Given the description of an element on the screen output the (x, y) to click on. 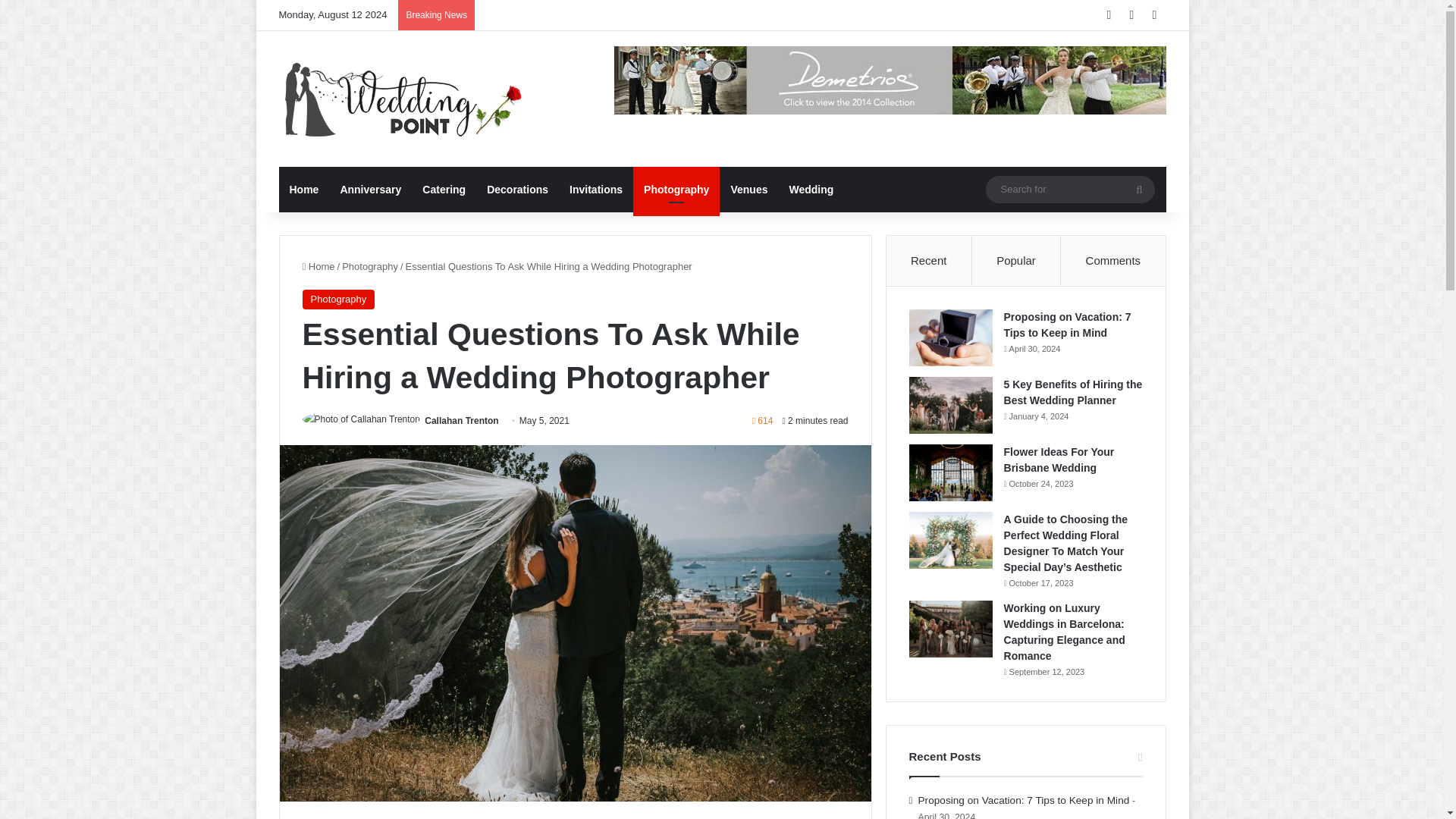
Catering (444, 189)
Anniversary (370, 189)
Photography (676, 189)
Home (317, 266)
Photography (337, 299)
Callahan Trenton (461, 420)
Home (304, 189)
Photography (369, 266)
Callahan Trenton (461, 420)
Decorations (517, 189)
